Given the description of an element on the screen output the (x, y) to click on. 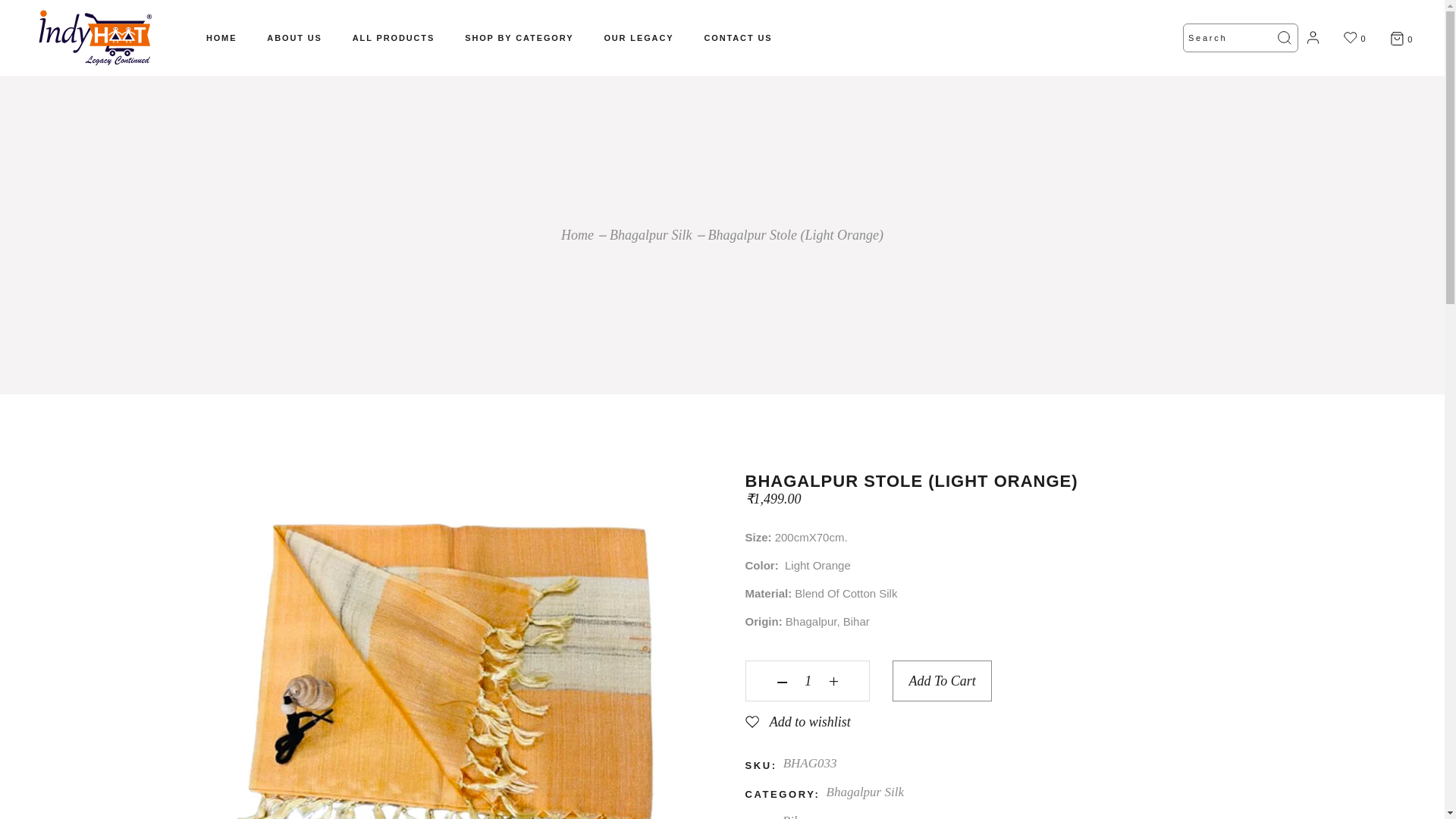
OUR LEGACY (638, 38)
SHOP BY CATEGORY (518, 38)
CONTACT US (737, 38)
0 (1355, 37)
0 (1401, 38)
ALL PRODUCTS (392, 38)
